Given the description of an element on the screen output the (x, y) to click on. 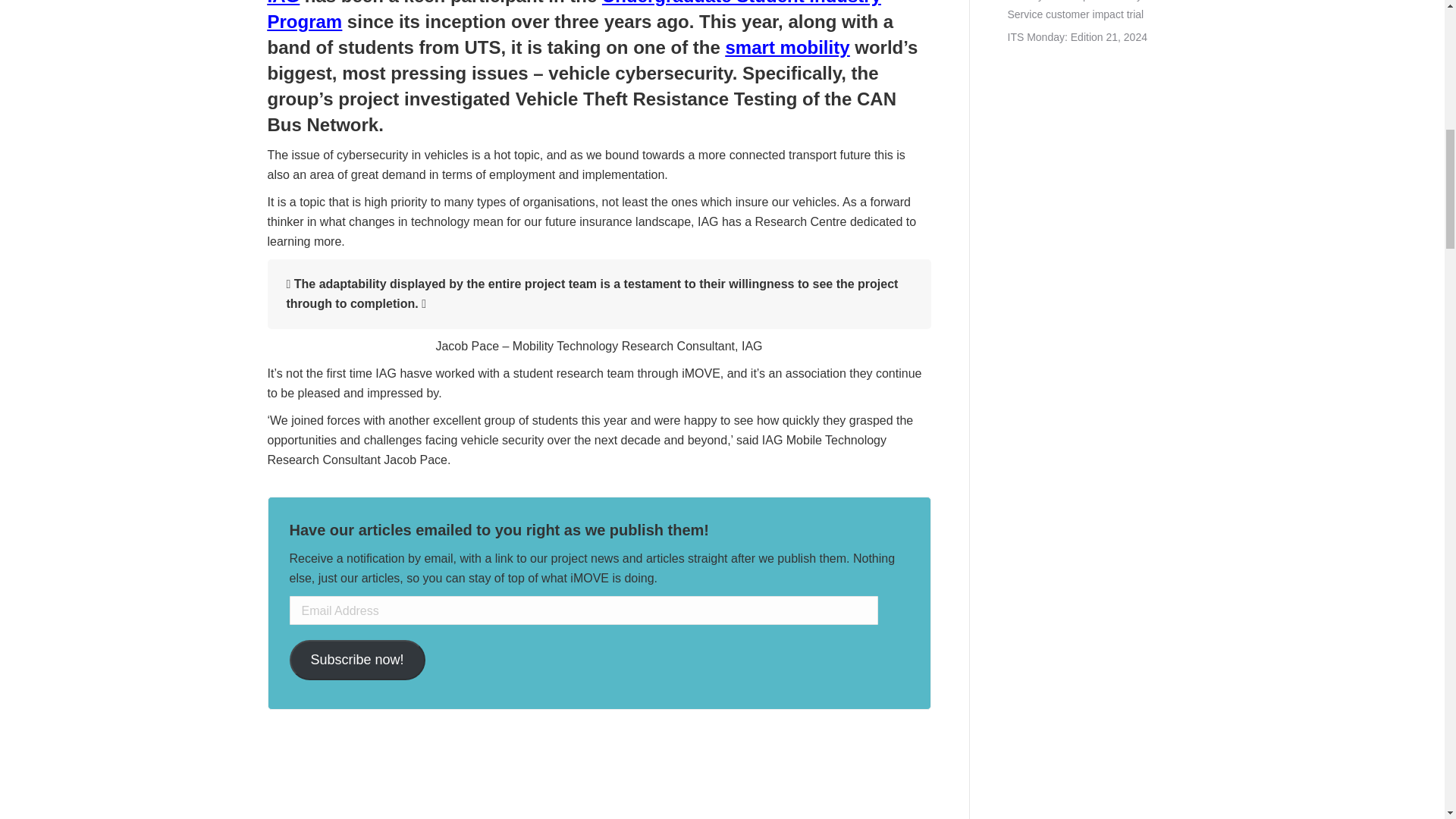
IAG Research Centre (598, 790)
